Given the description of an element on the screen output the (x, y) to click on. 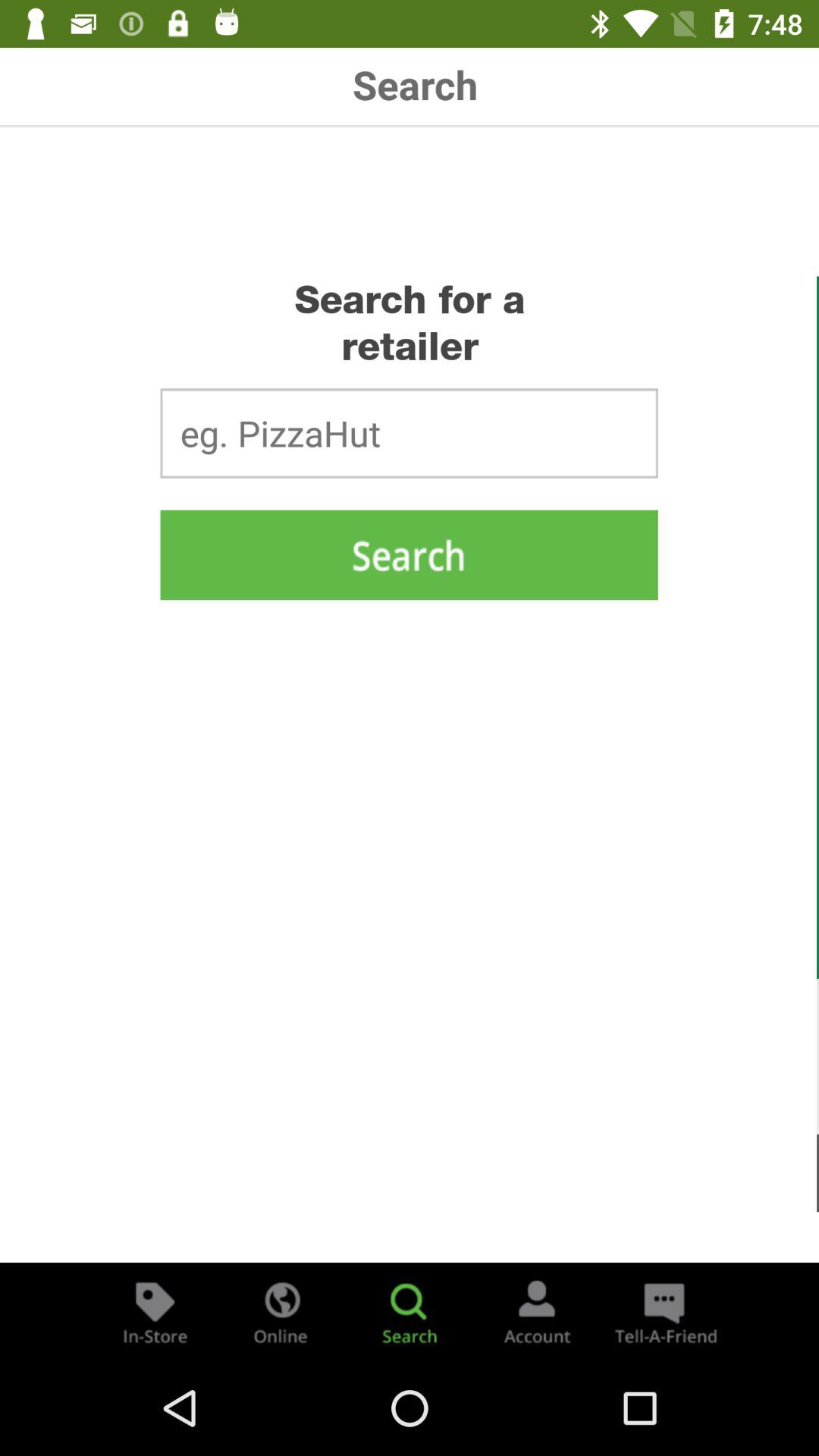
share the article (664, 1311)
